Given the description of an element on the screen output the (x, y) to click on. 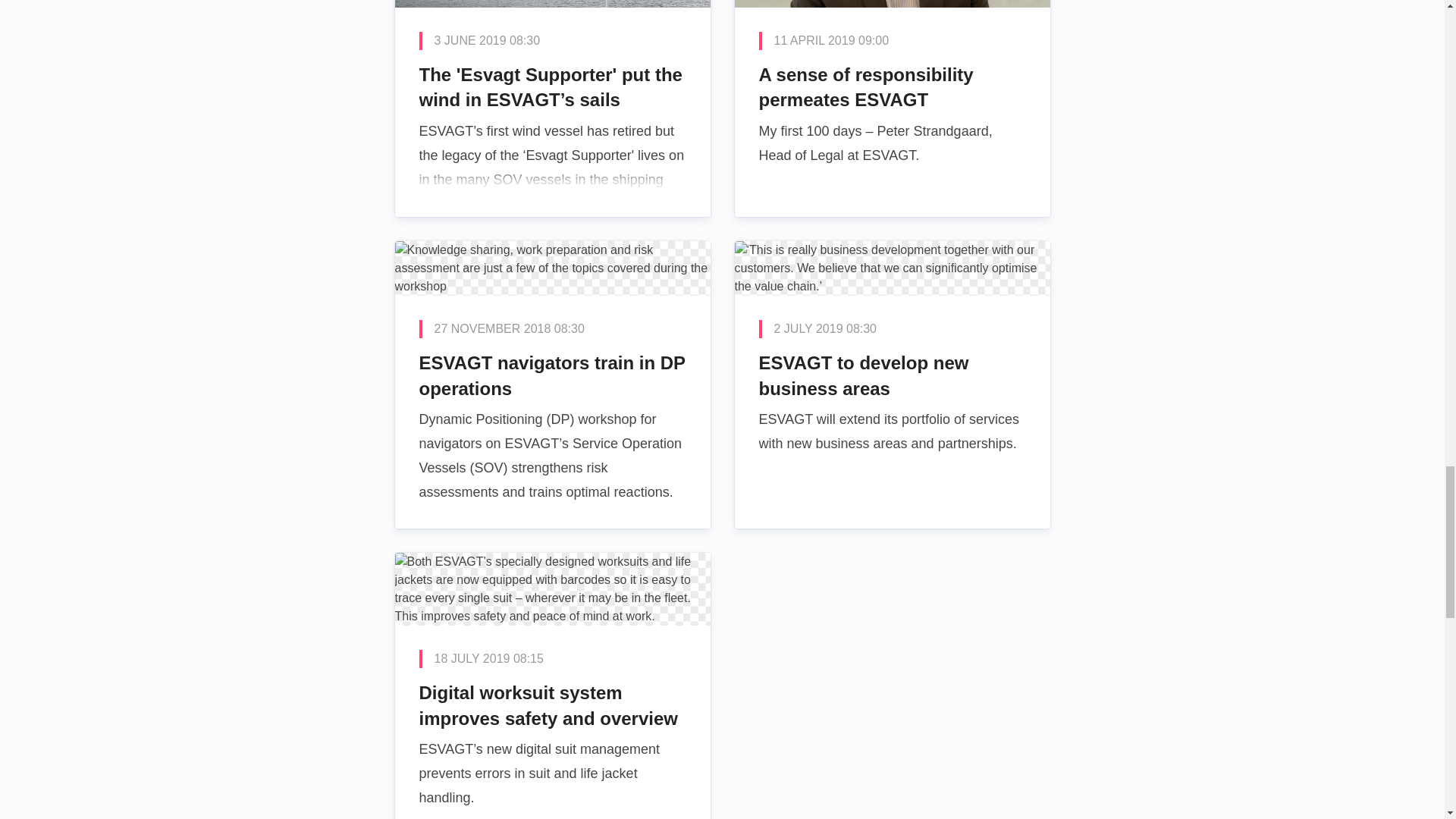
Digital worksuit system improves safety and overview (552, 685)
A sense of responsibility permeates ESVAGT  (891, 108)
ESVAGT navigators train in DP operations (552, 384)
ESVAGT to develop new business areas  (891, 384)
